Given the description of an element on the screen output the (x, y) to click on. 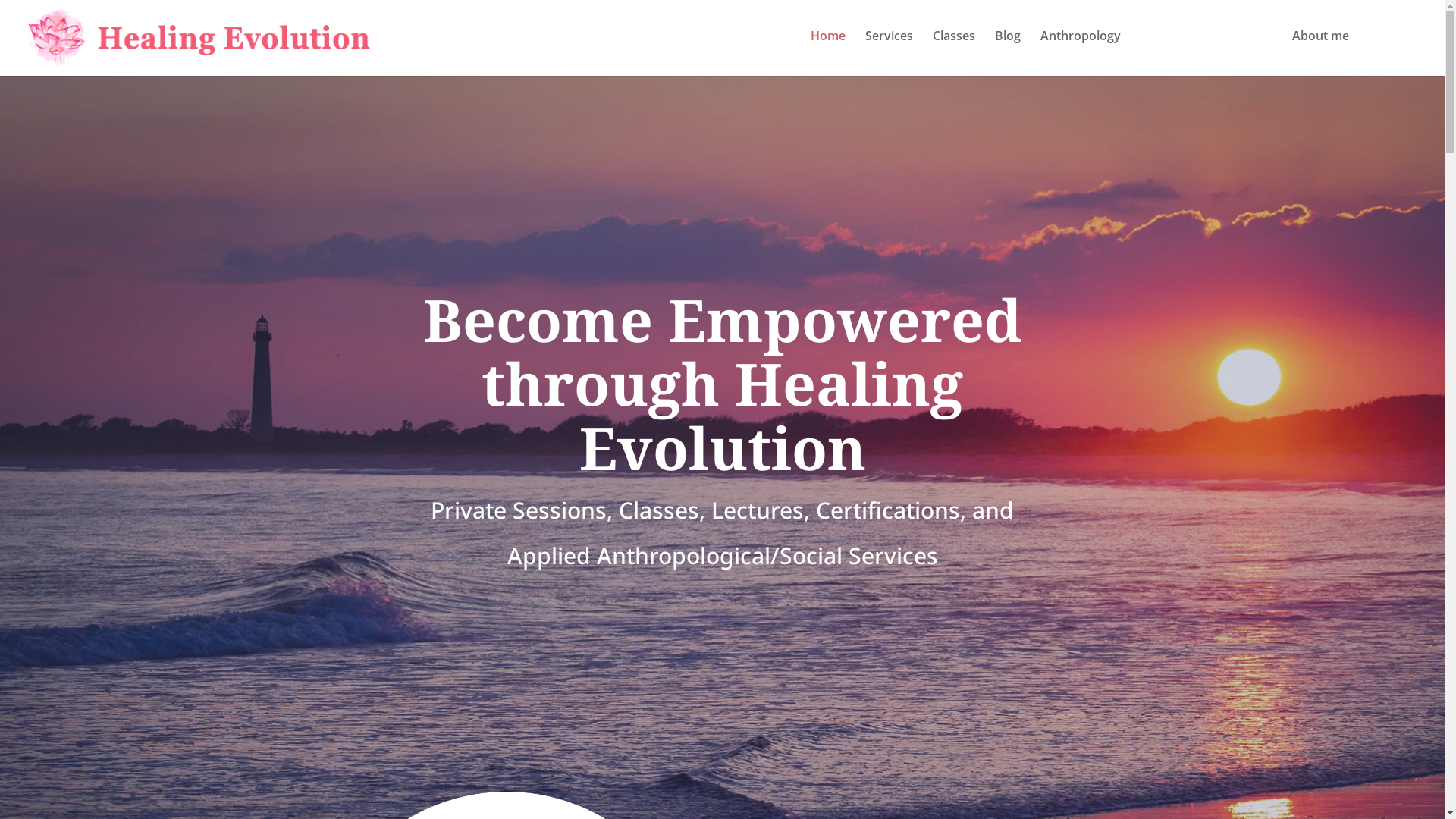
Services Element type: text (889, 50)
Anthropology Element type: text (1080, 50)
Blog Element type: text (1007, 50)
Classes Element type: text (953, 50)
Home Element type: text (827, 50)
